Given the description of an element on the screen output the (x, y) to click on. 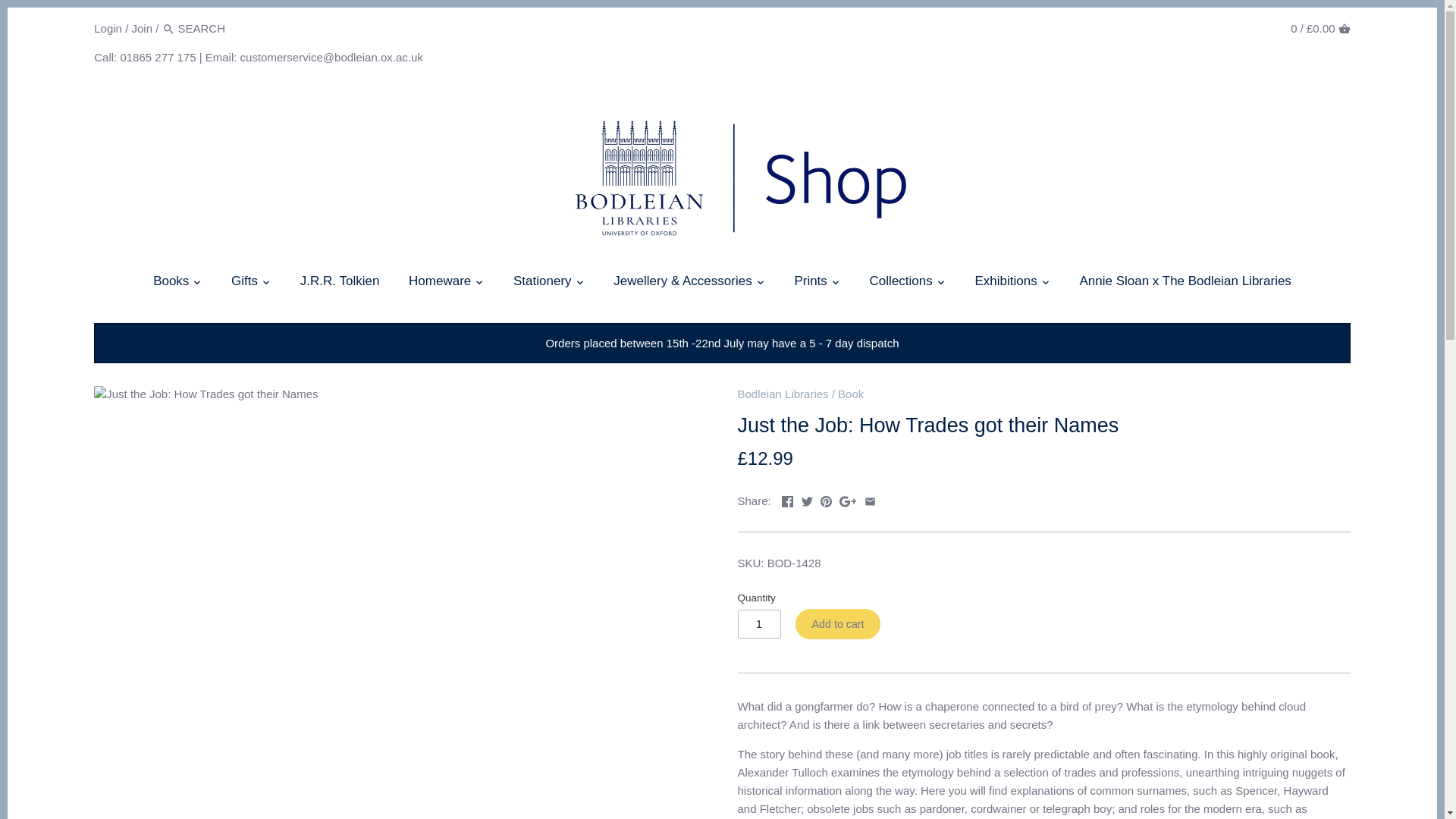
Join (141, 27)
Login (108, 27)
Gifts (244, 284)
Facebook (787, 501)
Cart (1344, 28)
J.R.R. Tolkien (339, 284)
Pinterest (826, 501)
Homeware (439, 284)
1 (758, 623)
Email (870, 501)
Twitter (807, 501)
GooglePlus (848, 501)
Search (167, 29)
Books (170, 284)
